Given the description of an element on the screen output the (x, y) to click on. 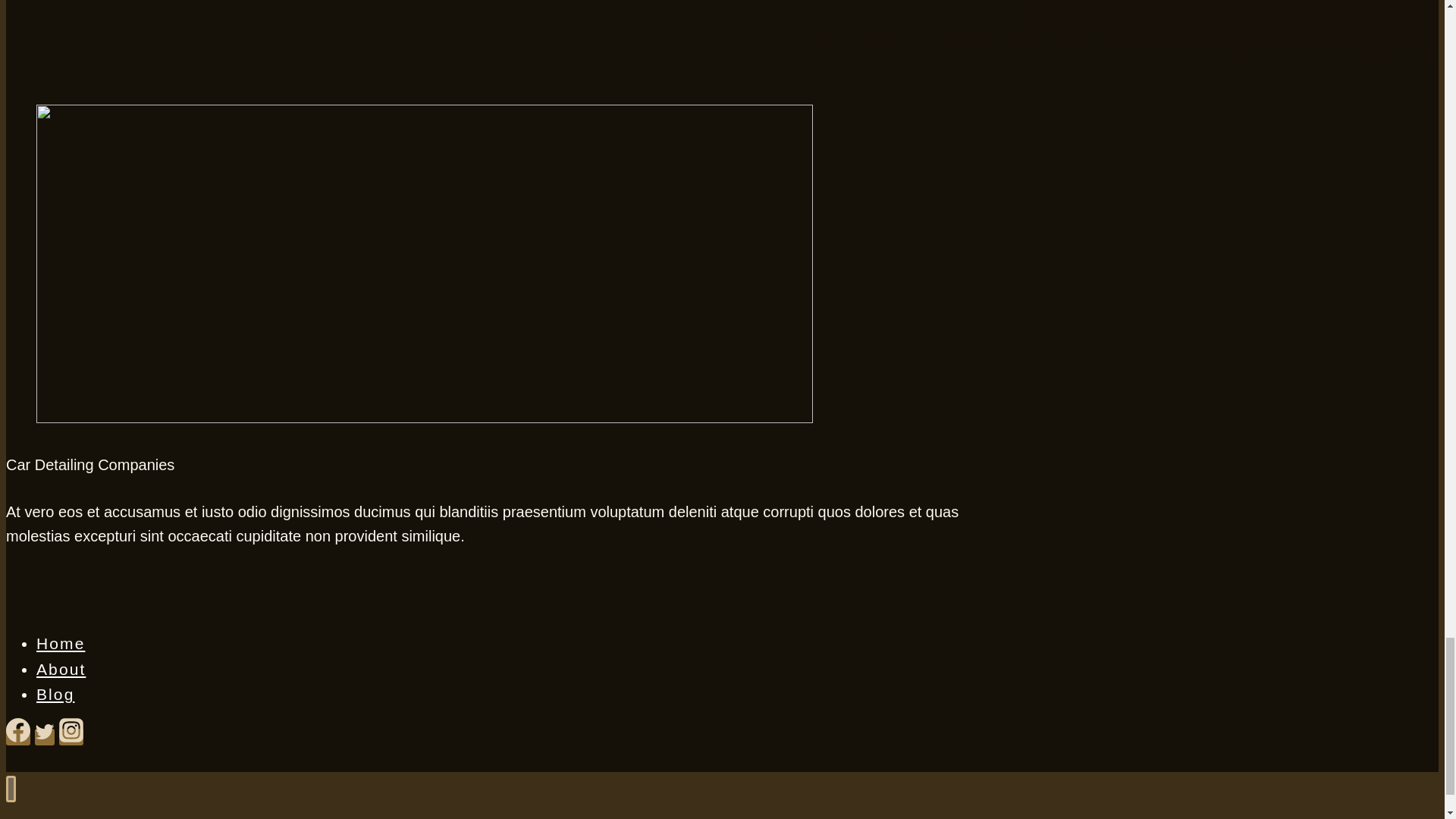
Twitter (44, 731)
Home (50, 814)
Facebook (17, 730)
Instagram (70, 736)
Facebook (17, 736)
Twitter (44, 736)
Instagram (70, 730)
About (60, 669)
Blog (55, 693)
Home (60, 642)
